Given the description of an element on the screen output the (x, y) to click on. 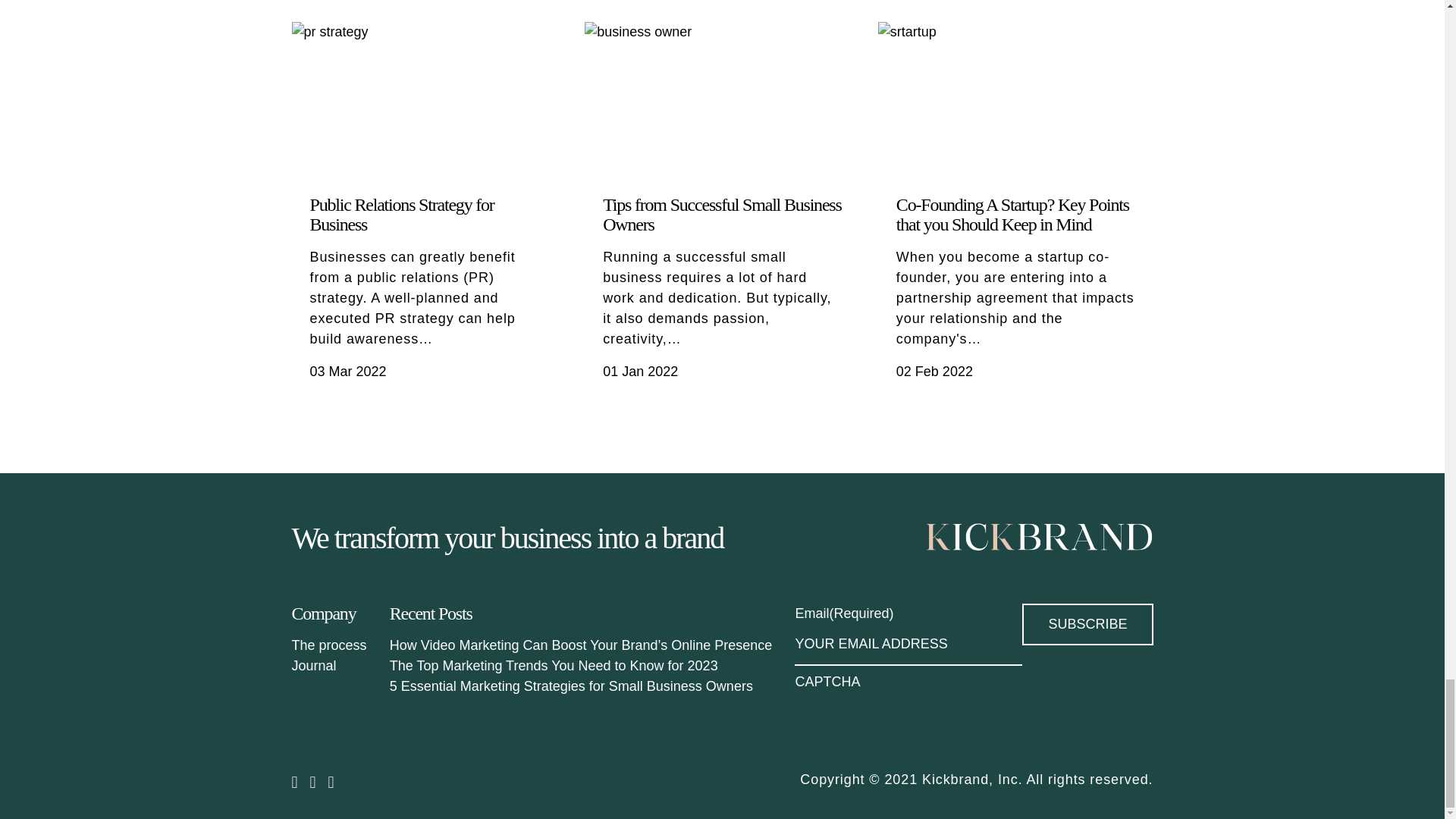
Public Relations Strategy for Business (400, 214)
Subscribe (1087, 624)
The Top Marketing Trends You Need to Know for 2023 (553, 665)
Tips from Successful Small Business Owners (721, 214)
The process (328, 645)
Journal (313, 665)
Kickbrand (1038, 538)
Subscribe (1087, 624)
5 Essential Marketing Strategies for Small Business Owners (571, 685)
